Given the description of an element on the screen output the (x, y) to click on. 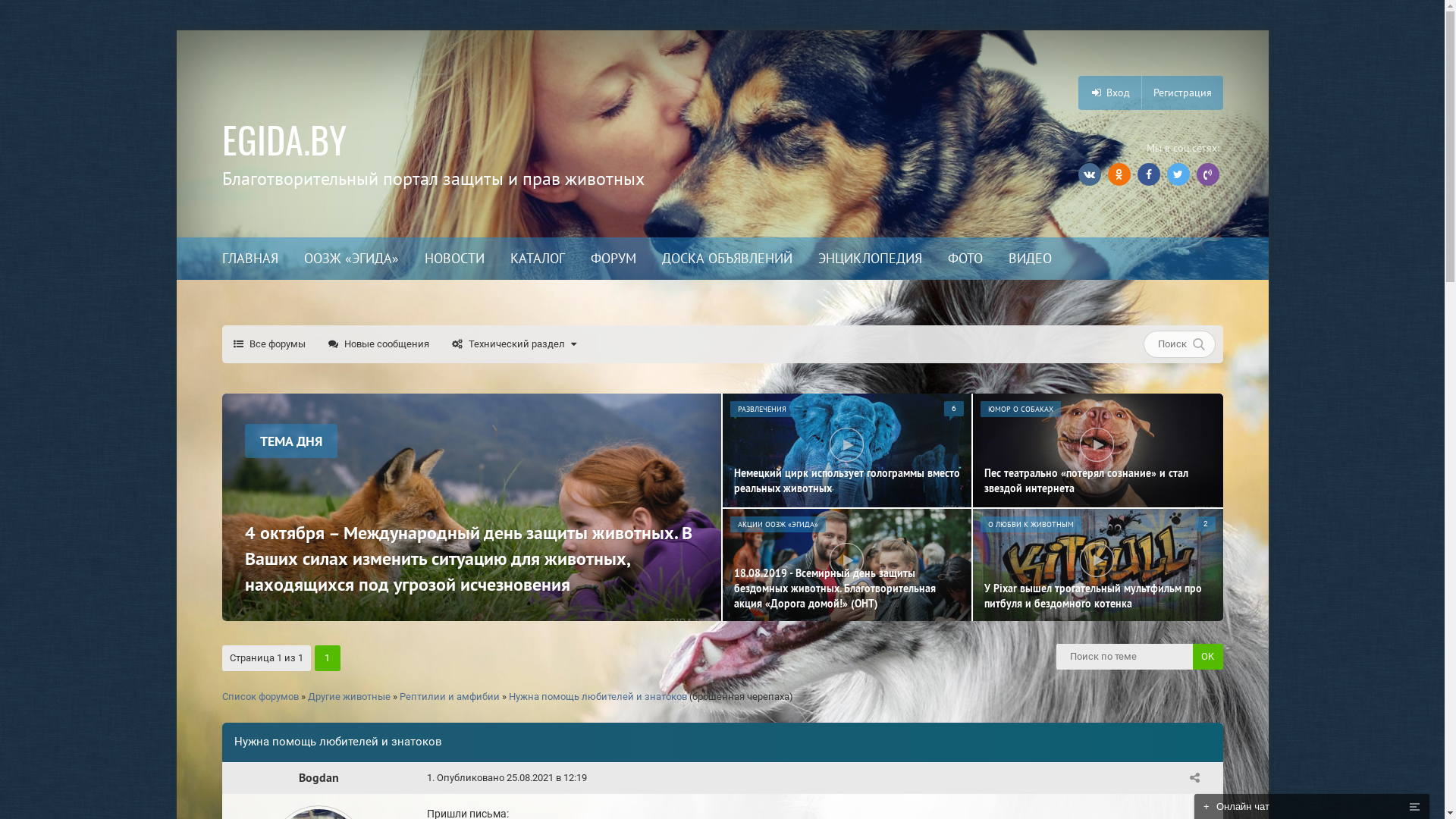
Bogdan Element type: text (318, 777)
1 Element type: text (428, 777)
2 Element type: text (1204, 523)
Ok Element type: text (1207, 656)
6 Element type: text (953, 408)
1 Element type: text (1194, 779)
